Given the description of an element on the screen output the (x, y) to click on. 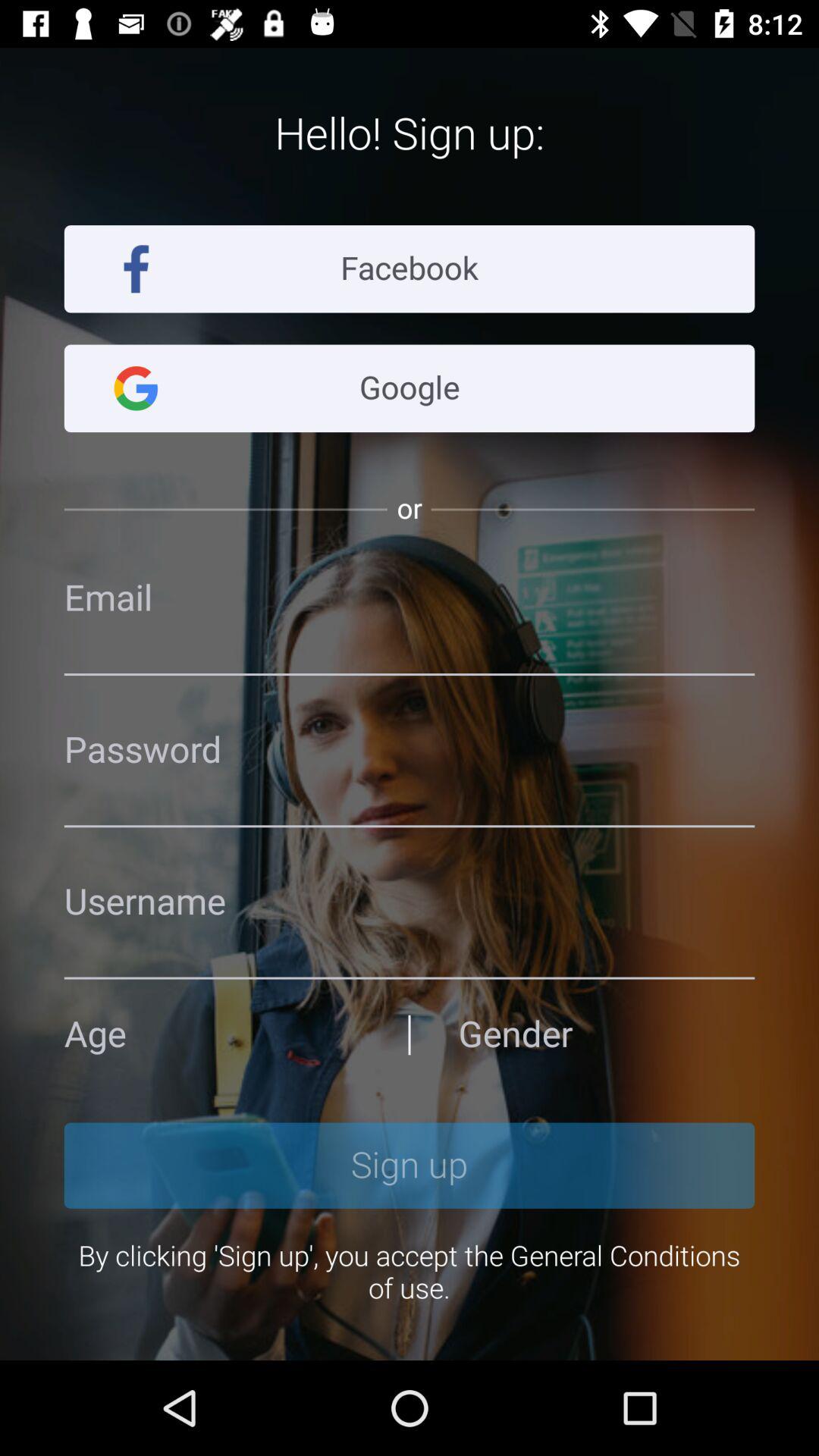
enter the name (409, 902)
